Given the description of an element on the screen output the (x, y) to click on. 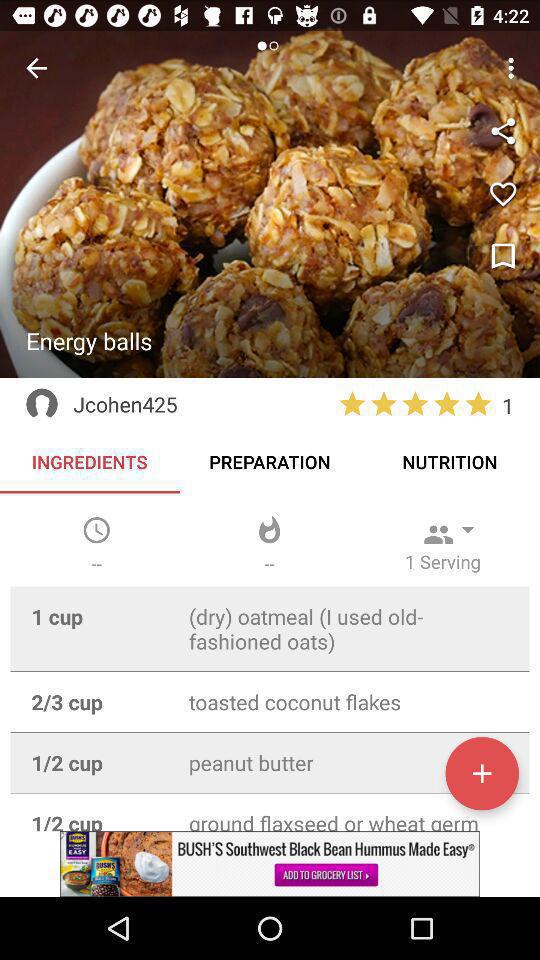
for addvertisement (270, 864)
